Given the description of an element on the screen output the (x, y) to click on. 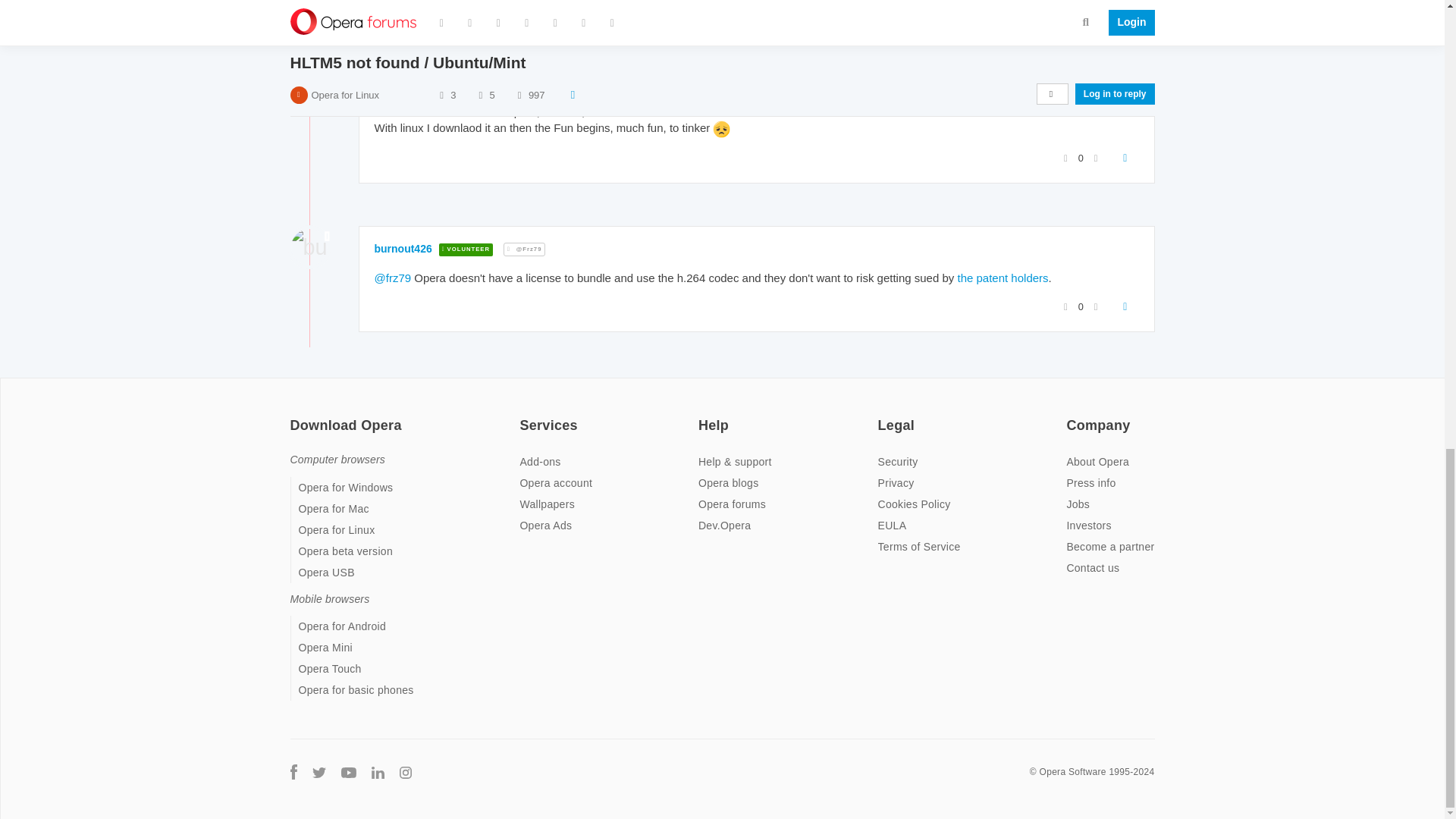
on (702, 415)
on (293, 415)
on (881, 415)
on (1070, 415)
on (523, 415)
